Given the description of an element on the screen output the (x, y) to click on. 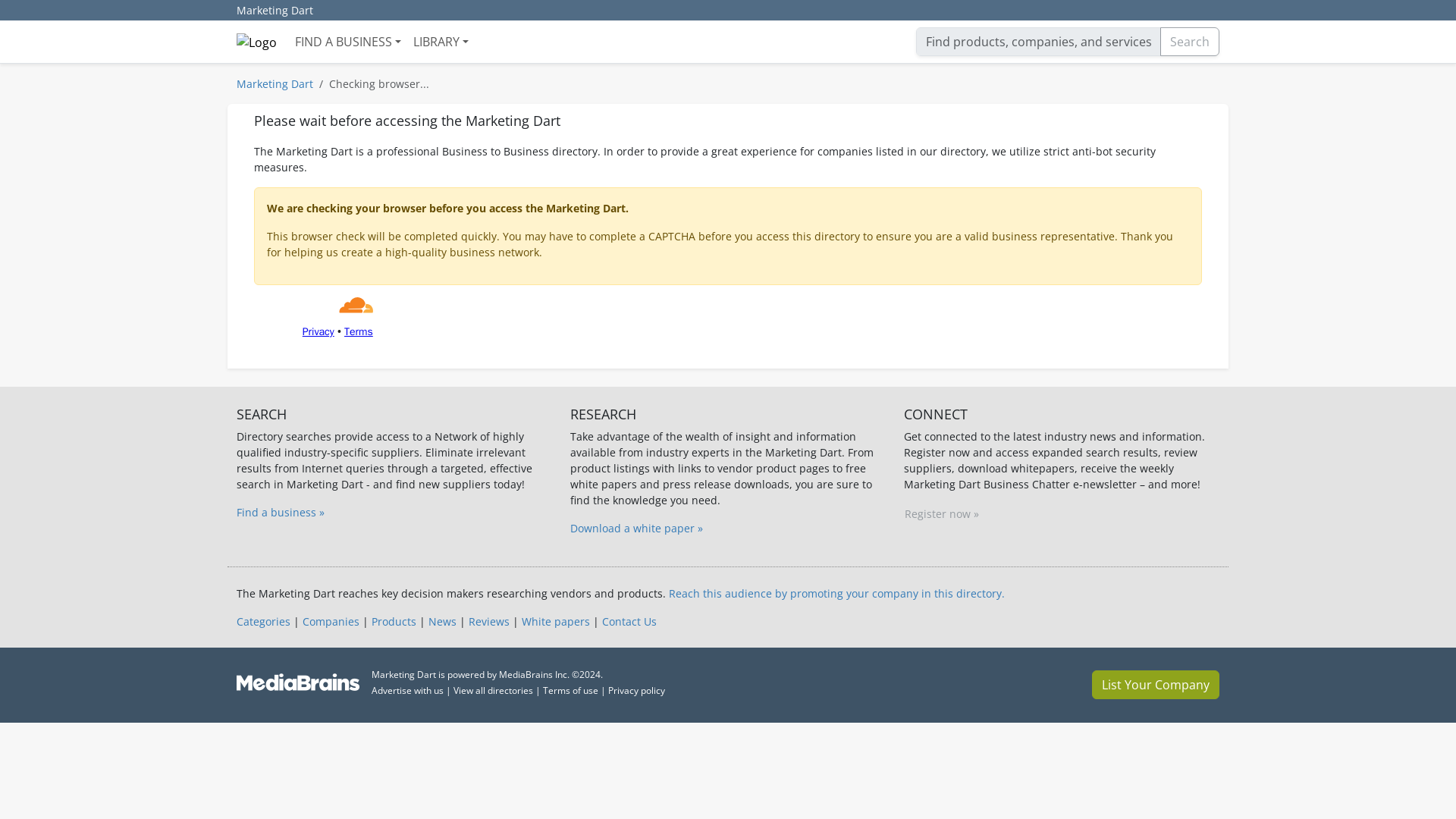
Marketing Dart (274, 83)
List Your Company (1156, 684)
View all directories (492, 689)
Reviews (488, 621)
Terms of use (570, 689)
Categories (262, 621)
Search (1190, 41)
FIND A BUSINESS (347, 41)
Marketing Dart (274, 10)
White papers (555, 621)
